Given the description of an element on the screen output the (x, y) to click on. 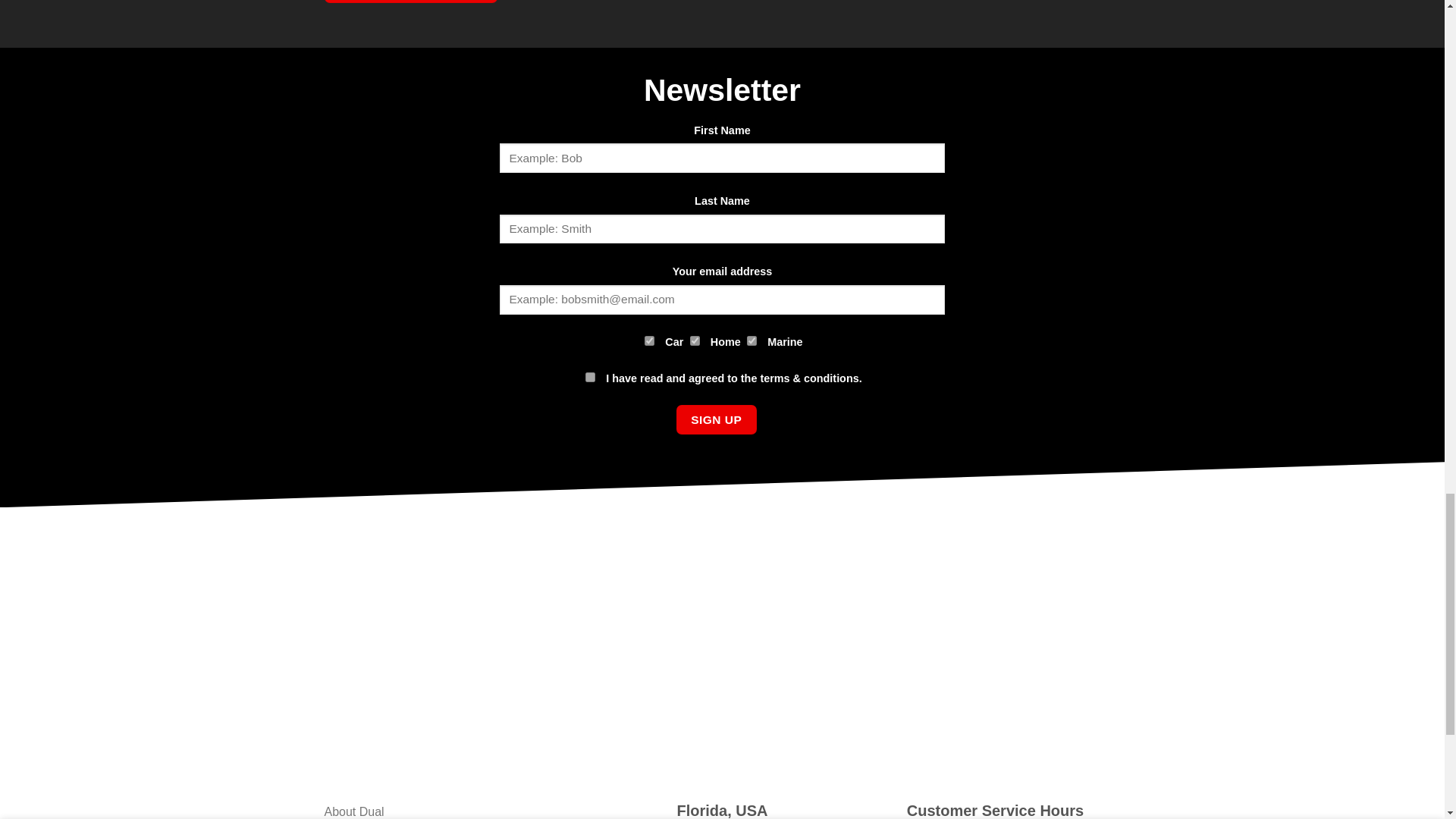
4b63977614 (751, 340)
Sign up (717, 419)
9a3ac5ec12 (695, 340)
1 (590, 377)
fdbcc6bfc0 (649, 340)
